Given the description of an element on the screen output the (x, y) to click on. 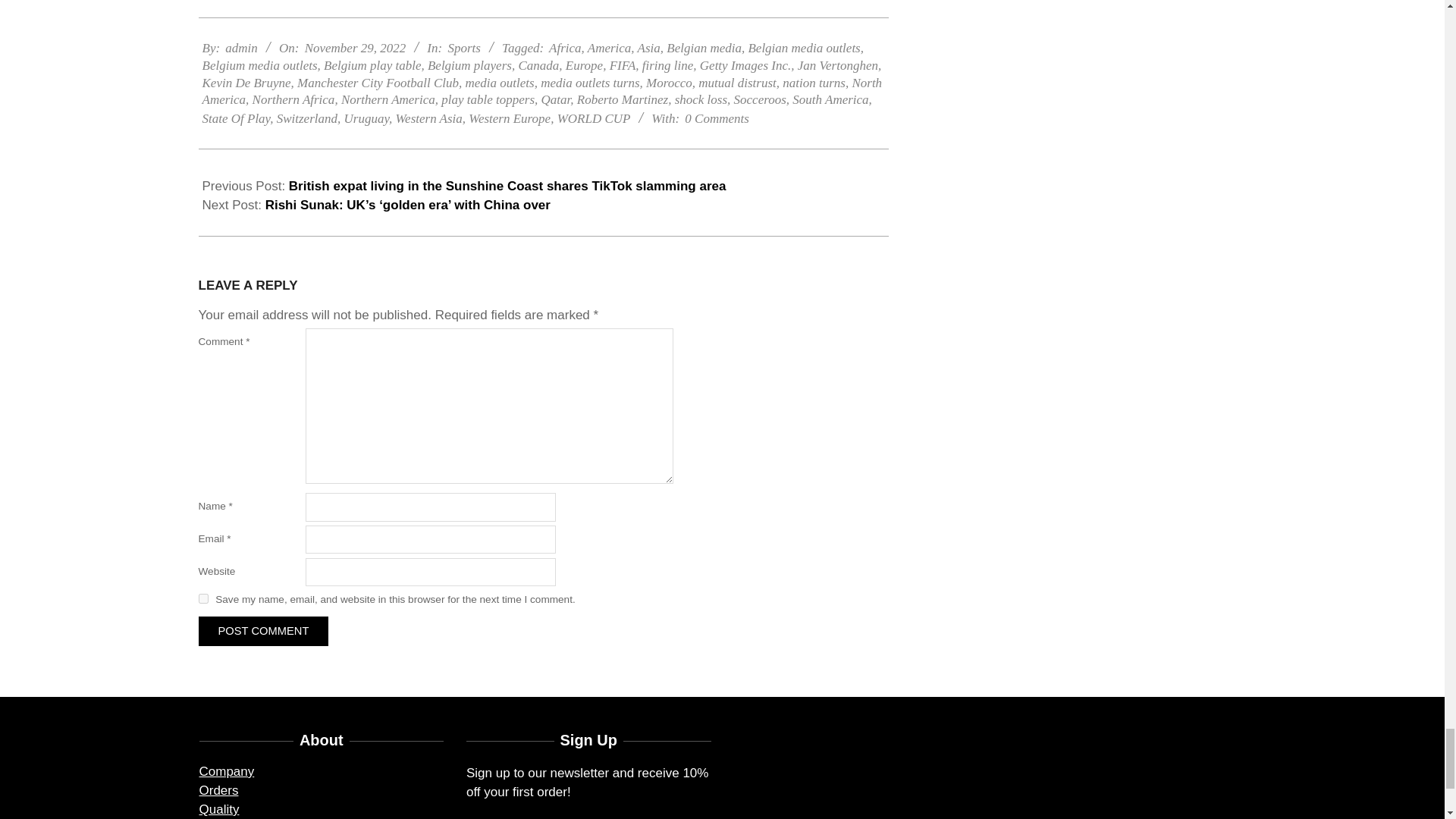
yes (203, 338)
Post Comment (263, 371)
Unos WordPress Theme (703, 796)
